Given the description of an element on the screen output the (x, y) to click on. 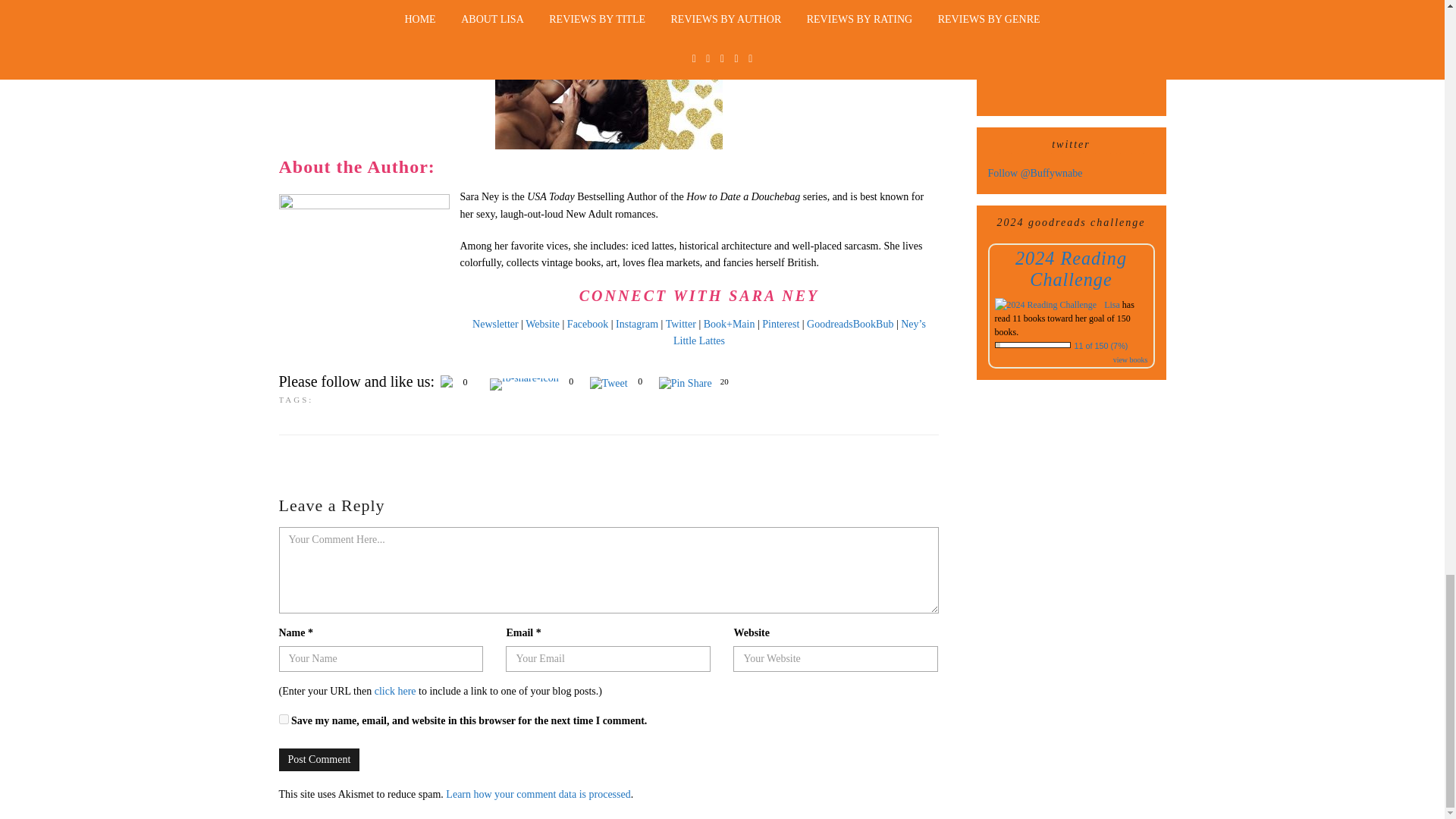
Pinterest (780, 324)
Pin Share (685, 383)
Newsletter (494, 324)
Facebook (587, 324)
Twitter (680, 324)
Post Comment (319, 759)
Instagram (636, 324)
GoodreadsBookBub (849, 324)
Tweet (608, 383)
Website (542, 324)
Facebook Share (524, 384)
click here (395, 690)
Post Comment (319, 759)
yes (283, 718)
